Given the description of an element on the screen output the (x, y) to click on. 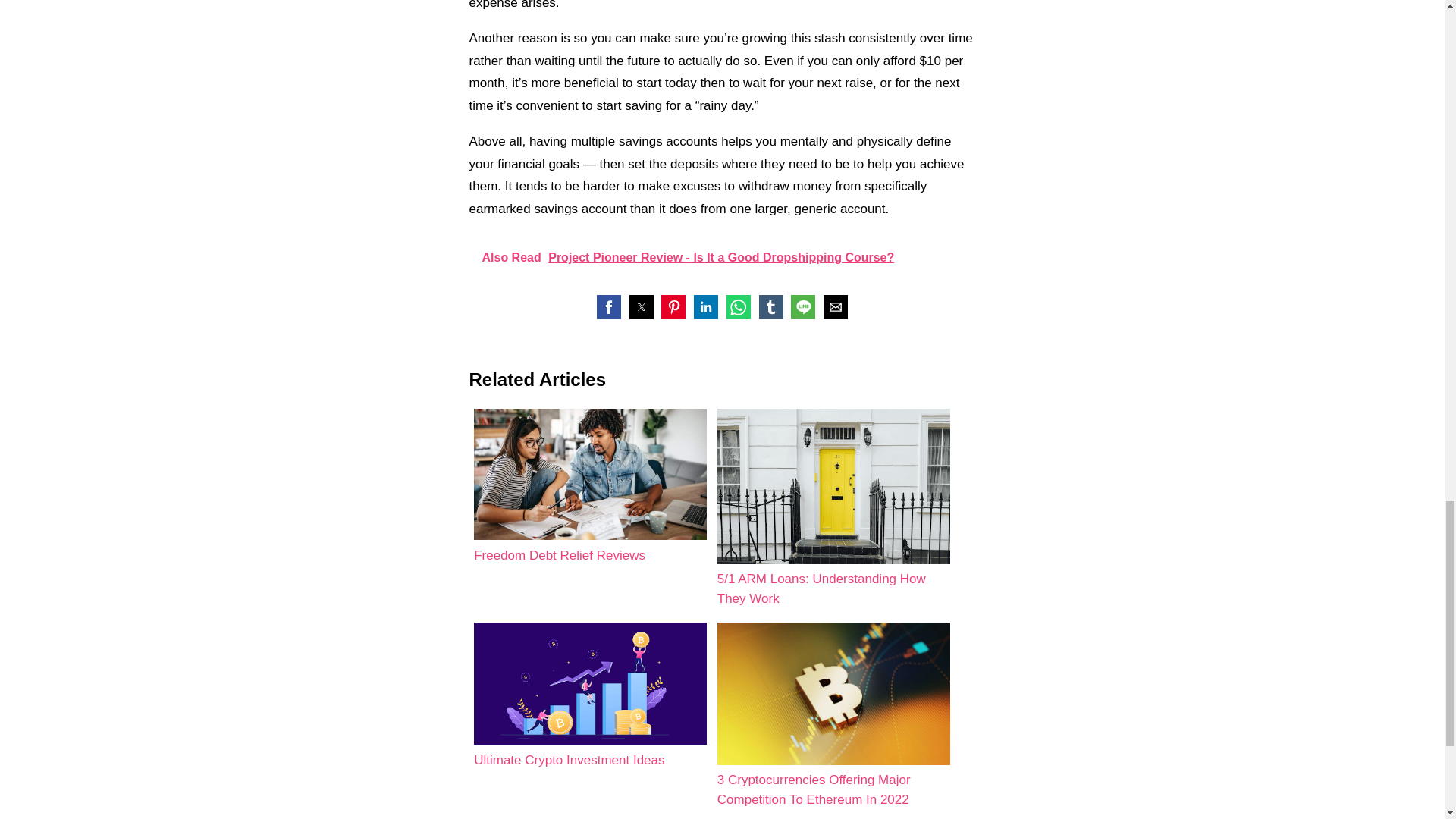
Ultimate Crypto Investment Ideas (590, 696)
Freedom Debt Relief Reviews (590, 486)
